Given the description of an element on the screen output the (x, y) to click on. 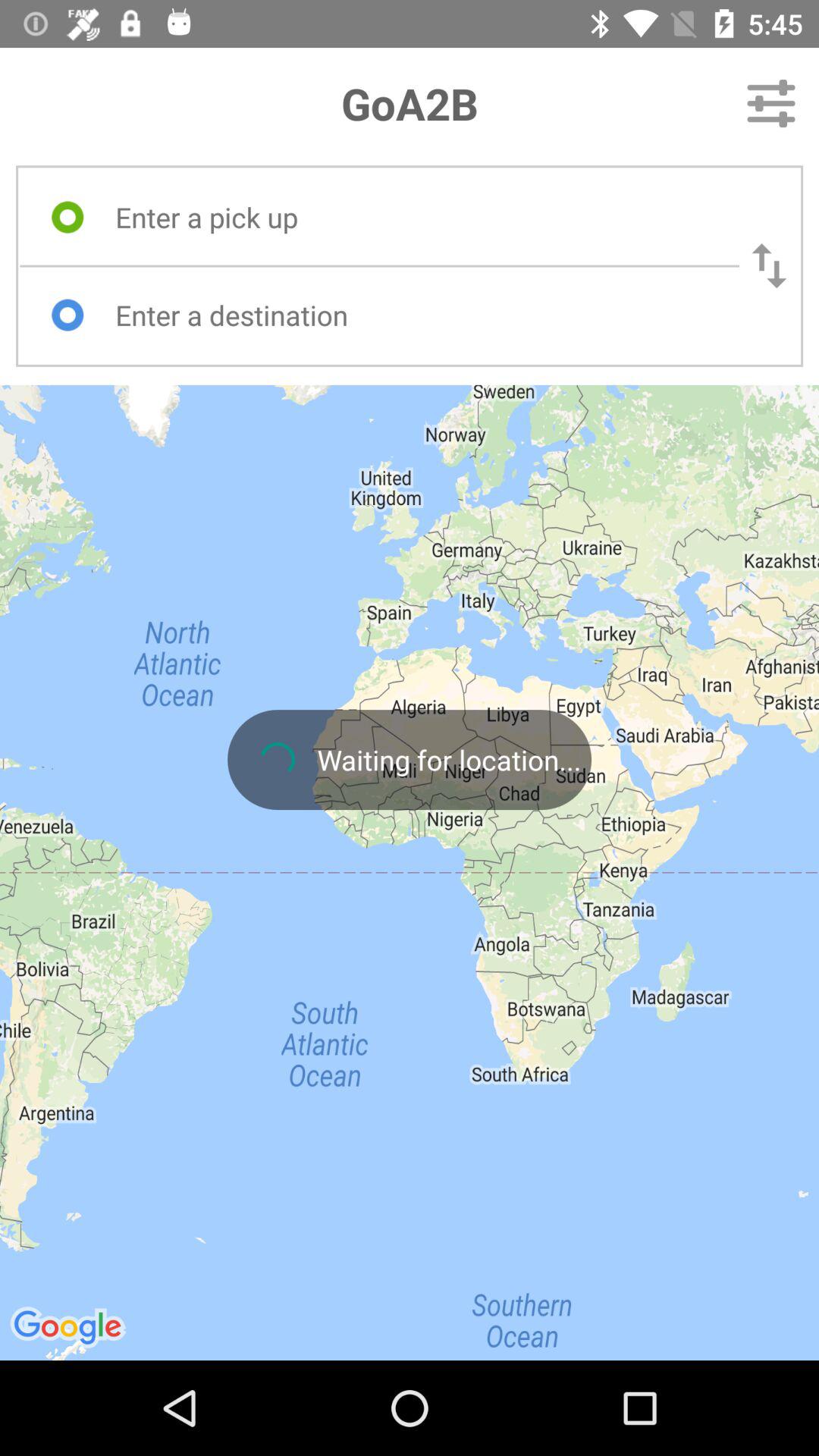
select the item next to the goa2b icon (771, 103)
